Given the description of an element on the screen output the (x, y) to click on. 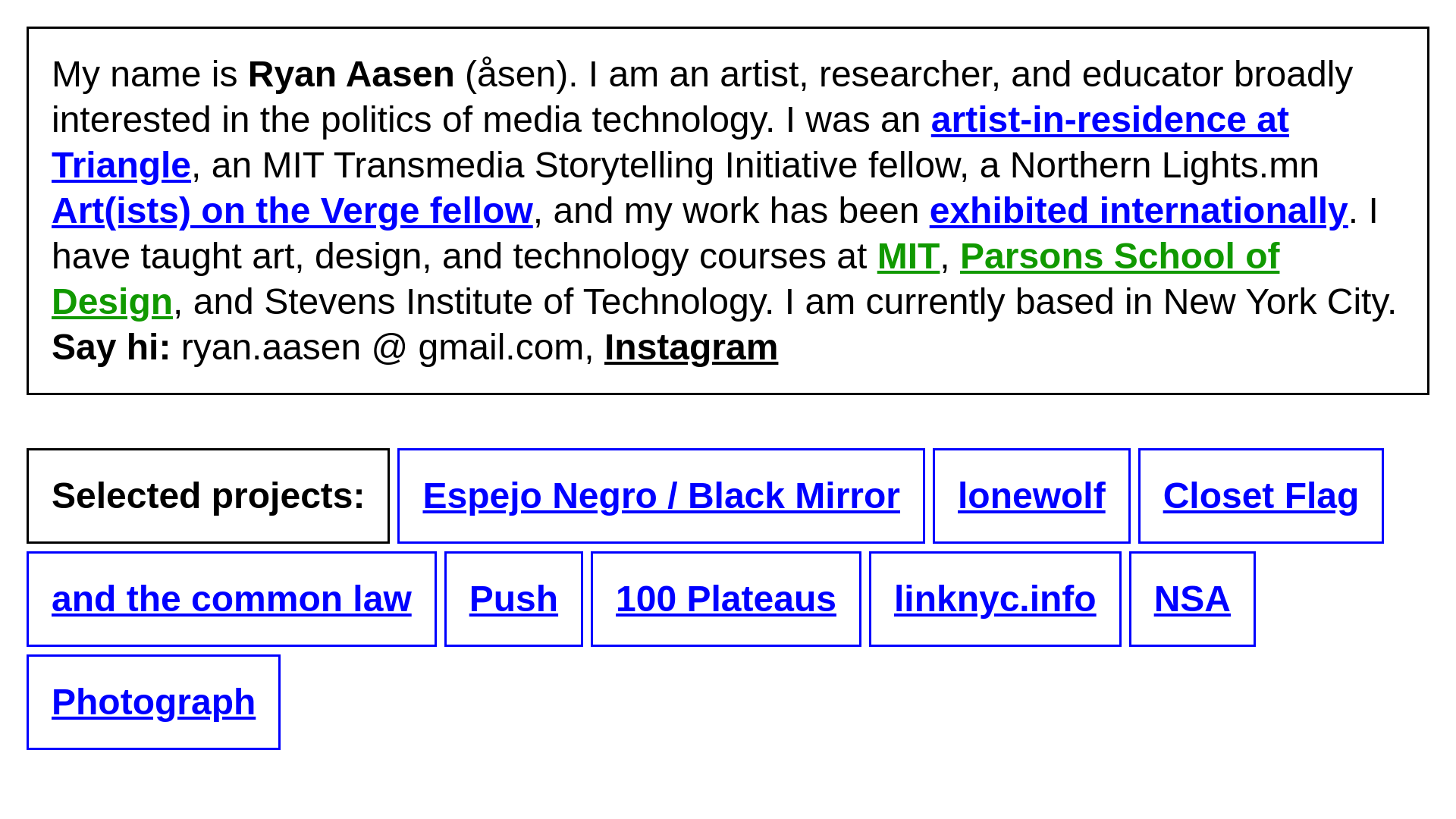
exhibited internationally (1139, 210)
Photograph (153, 701)
Closet Flag (1261, 495)
linknyc.info (994, 598)
Instagram (690, 346)
lonewolf (1031, 495)
100 Plateaus (725, 598)
Parsons School of Design (664, 278)
NSA (1192, 598)
and the common law (231, 598)
MIT (908, 255)
artist-in-residence at Triangle (669, 142)
Push (512, 598)
